Given the description of an element on the screen output the (x, y) to click on. 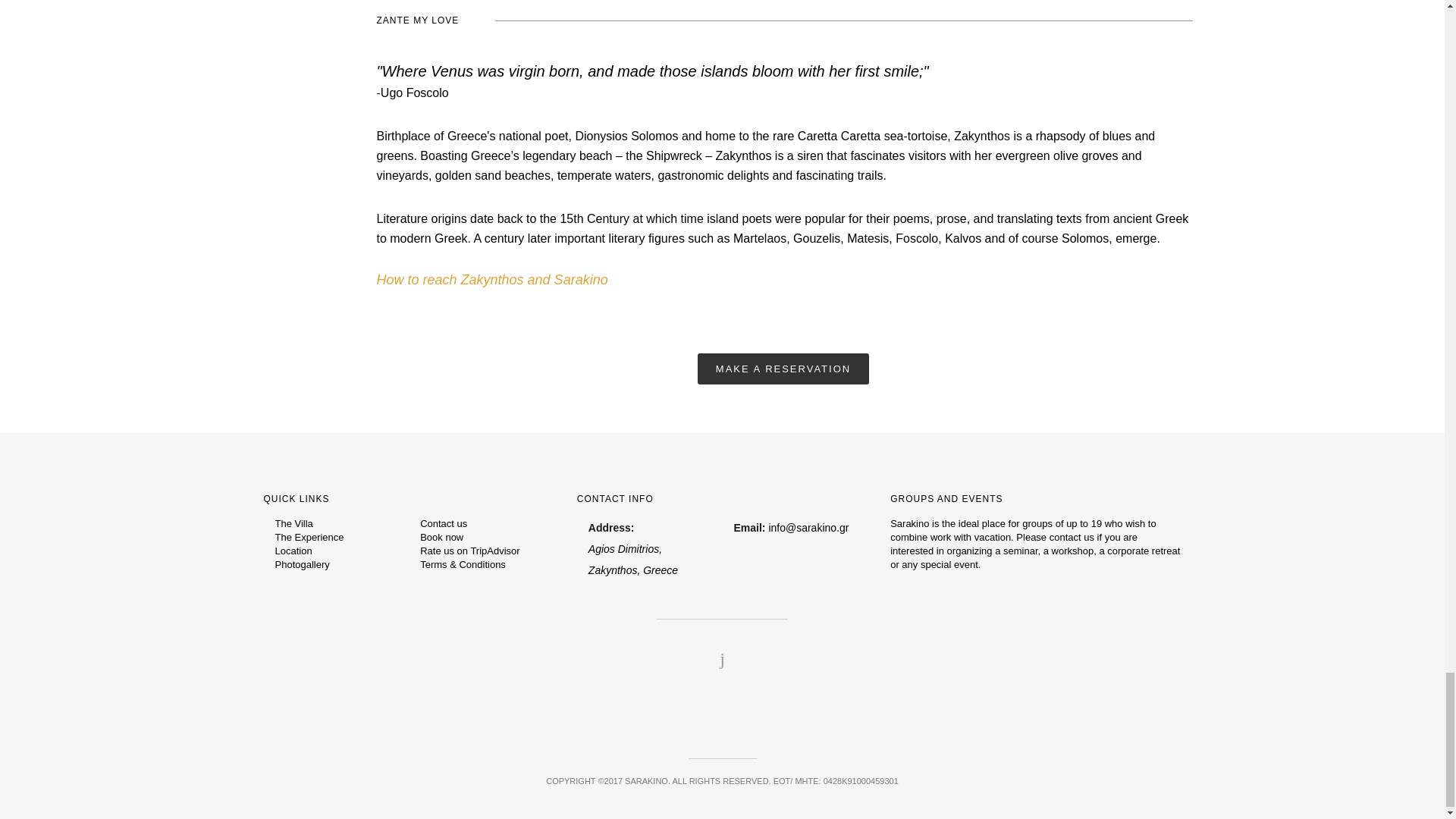
How to reach Zakynthos and Sarakino (491, 279)
MAKE A RESERVATION (783, 368)
The Experience (309, 536)
Book now (441, 536)
Rate us on TripAdvisor (469, 550)
Contact us (443, 523)
Photogallery (302, 564)
Location (293, 550)
The Villa (294, 523)
